Given the description of an element on the screen output the (x, y) to click on. 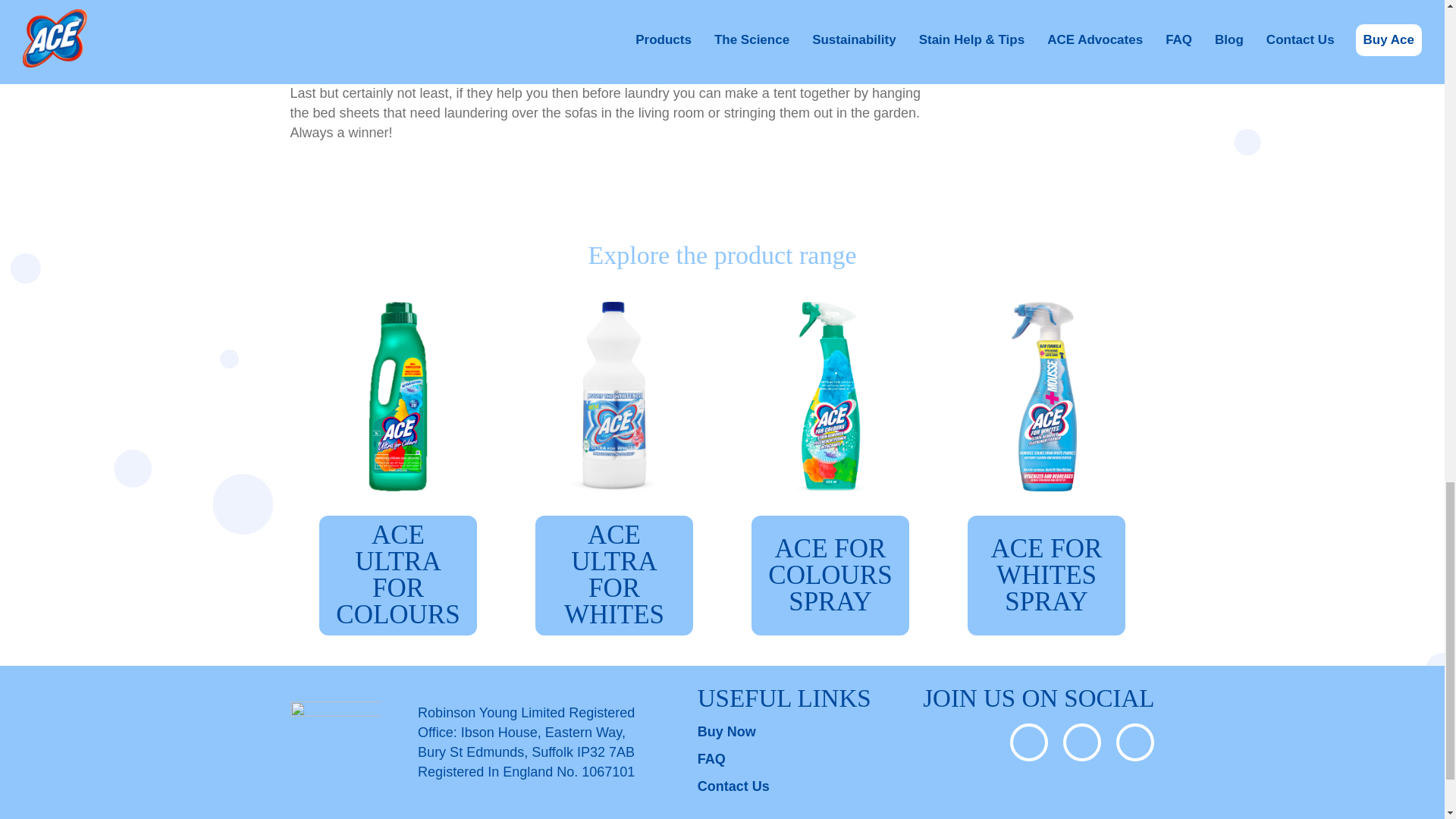
ACE FOR COLOURS SPRAY (829, 575)
ACE FOR WHITES SPRAY (1046, 575)
Contact Us (733, 785)
ACE ULTRA FOR WHITES (614, 575)
FAQ (711, 758)
ACE ULTRA FOR COLOURS (397, 575)
Buy Now (726, 731)
